Given the description of an element on the screen output the (x, y) to click on. 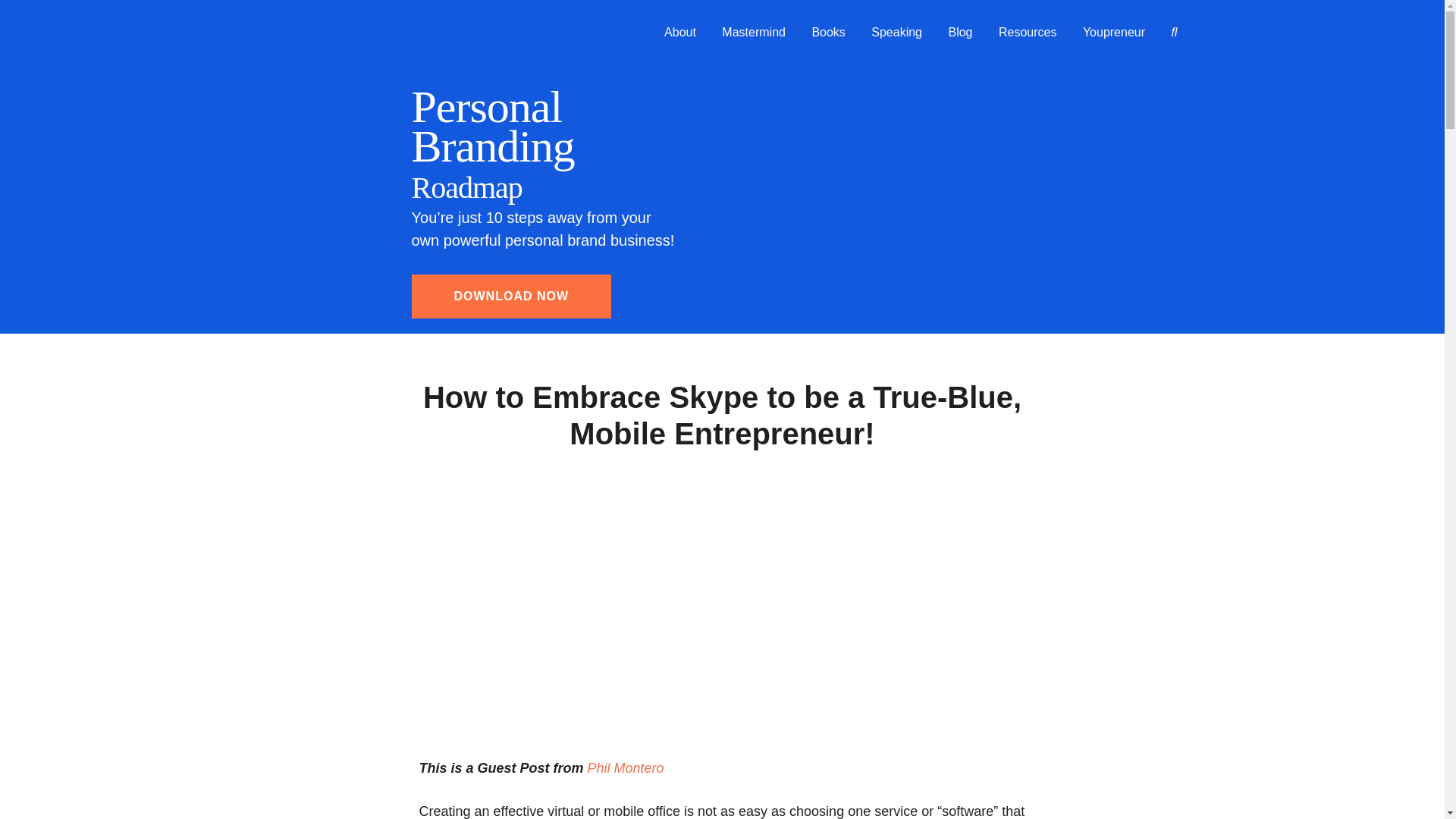
ChrisDucker.com (323, 34)
Youpreneur (1113, 31)
Blog (960, 31)
Mastermind (753, 31)
Speaking (896, 31)
Resources (1027, 31)
DOWNLOAD NOW (510, 296)
About (679, 31)
Skype Mobile (603, 603)
Phil Montero (625, 767)
Books (827, 31)
